Given the description of an element on the screen output the (x, y) to click on. 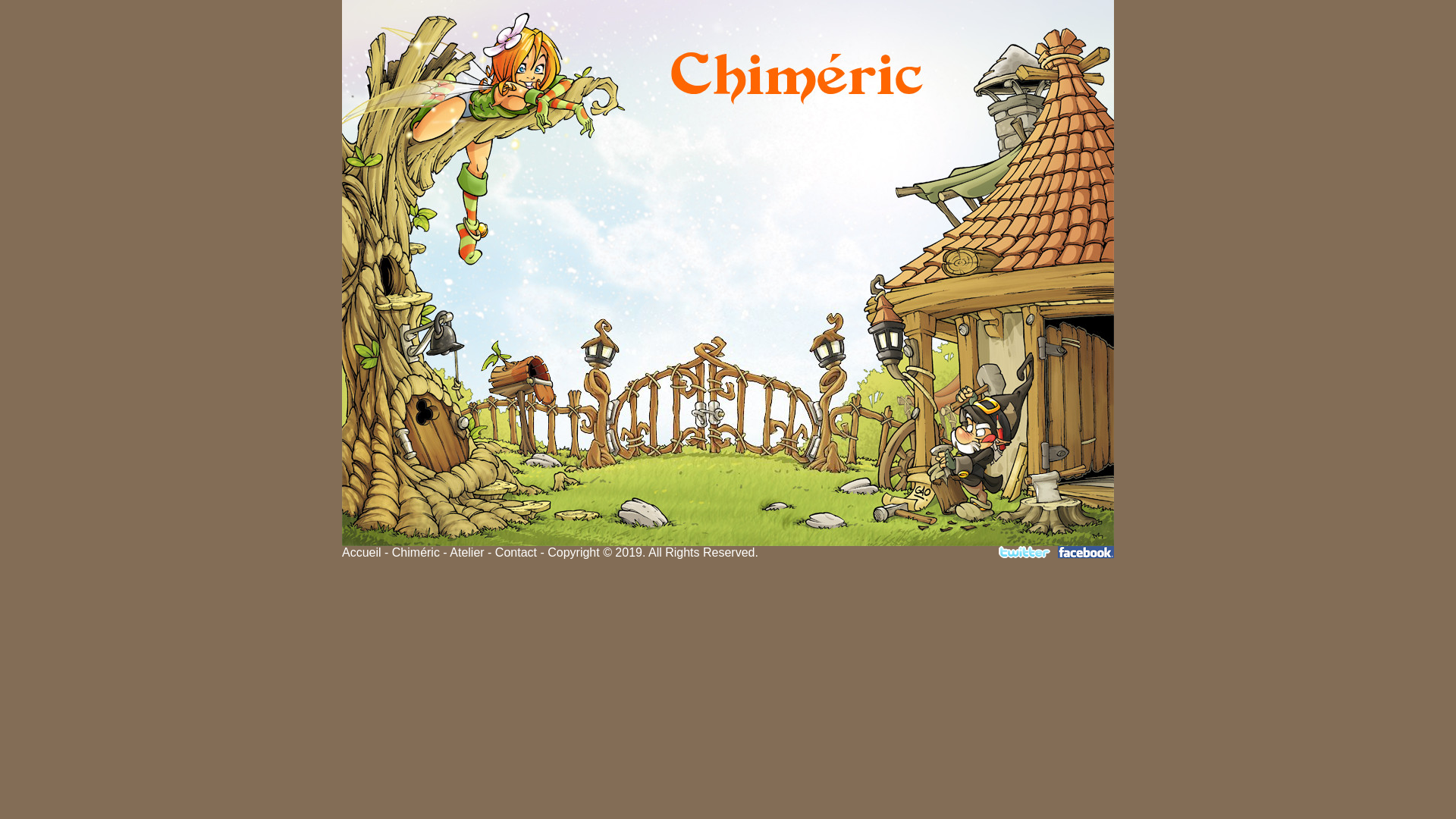
Atelier Element type: text (466, 552)
Accueil Element type: text (361, 552)
Contact Element type: text (515, 552)
